Given the description of an element on the screen output the (x, y) to click on. 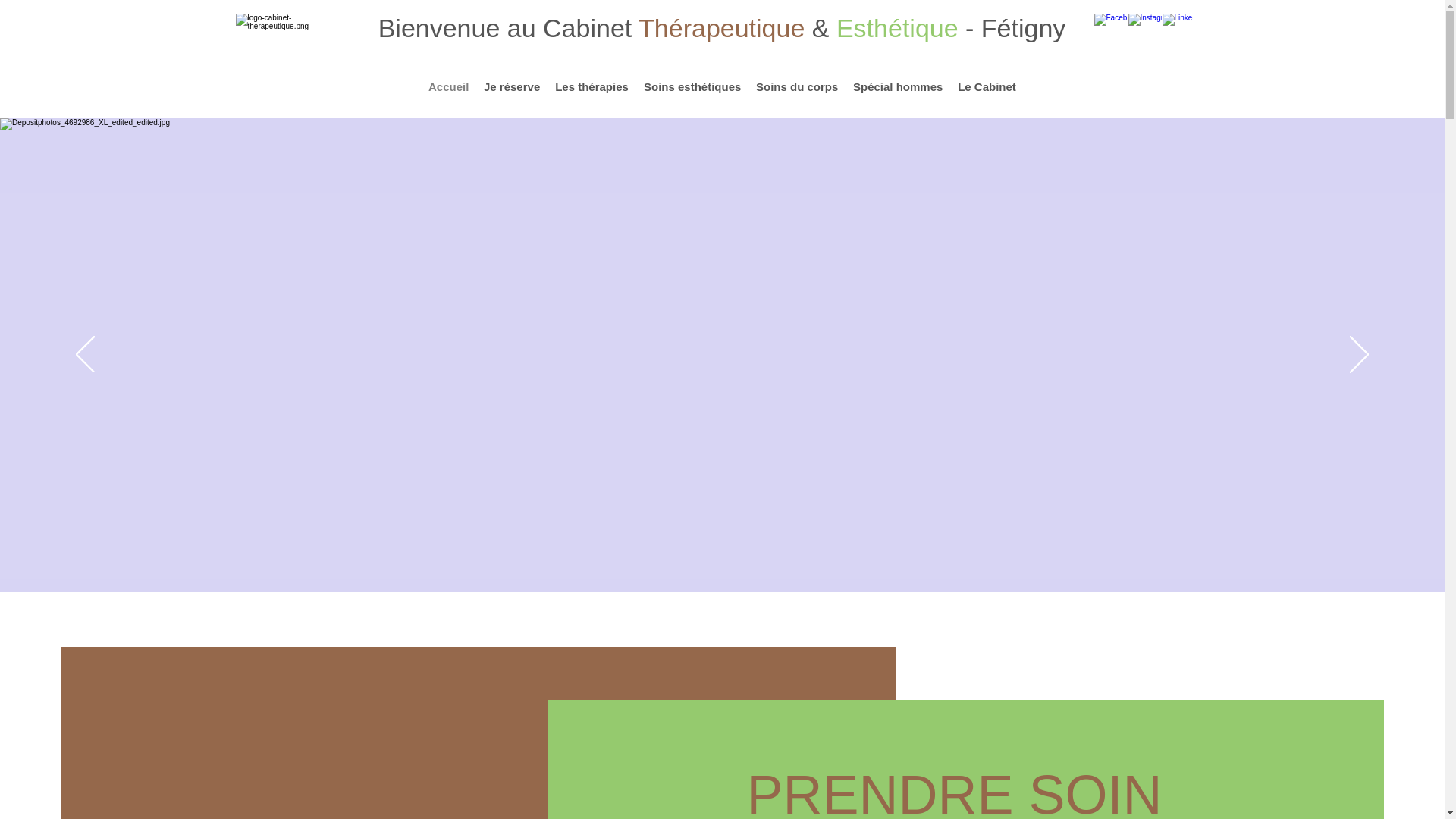
Accueil Element type: text (448, 86)
